Given the description of an element on the screen output the (x, y) to click on. 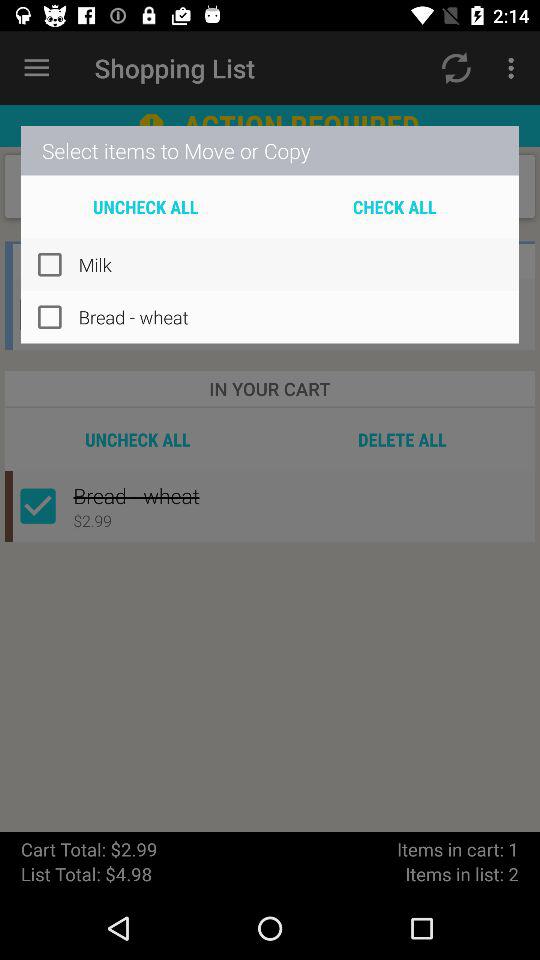
choose the check all (394, 206)
